Given the description of an element on the screen output the (x, y) to click on. 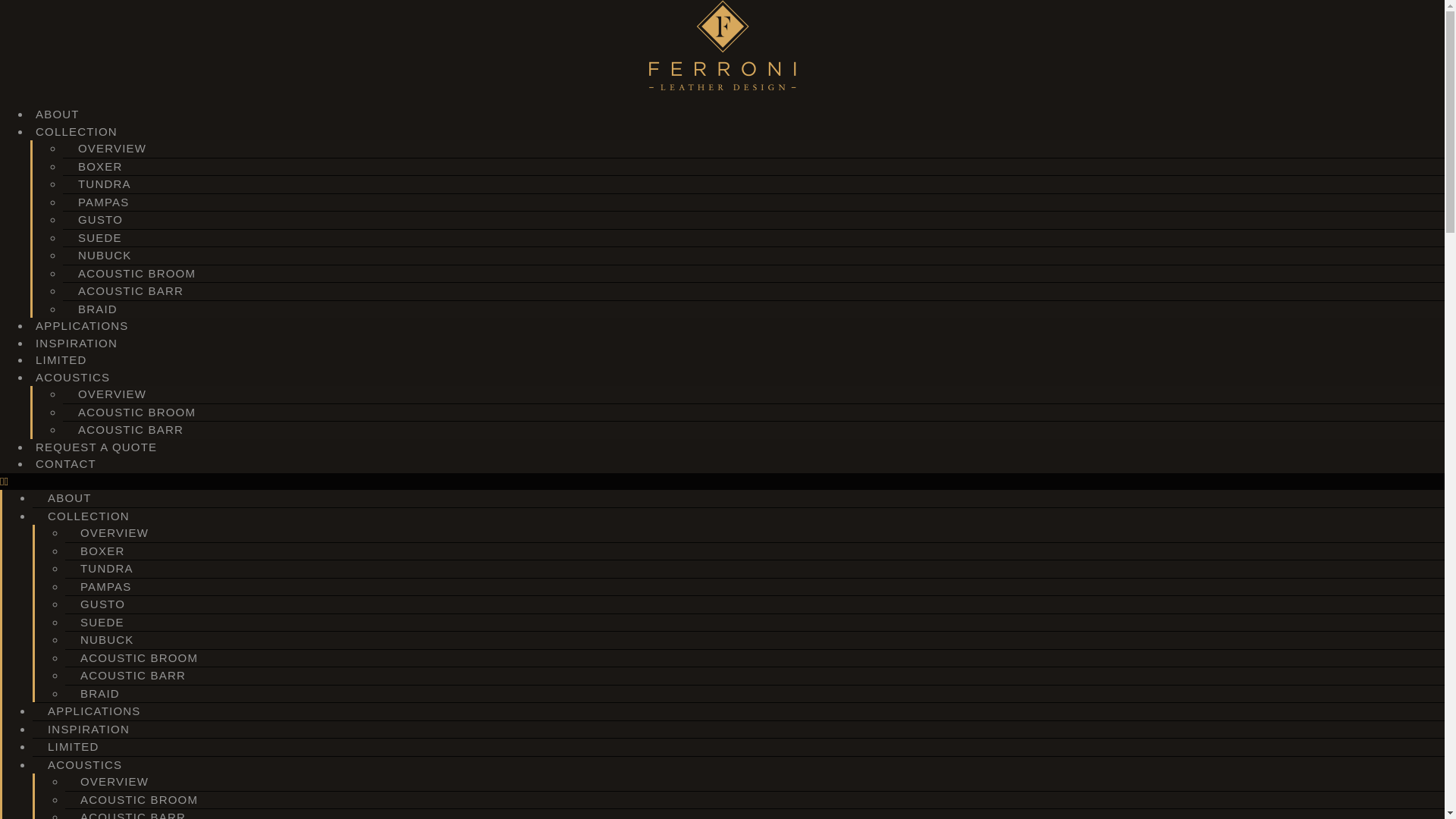
TUNDRA (104, 183)
ACOUSTIC BARR (130, 429)
OVERVIEW (111, 147)
NUBUCK (107, 639)
ACOUSTIC BARR (132, 675)
APPLICATIONS (81, 325)
SUEDE (99, 237)
APPLICATIONS (93, 711)
PAMPAS (103, 201)
BRAID (97, 308)
